Given the description of an element on the screen output the (x, y) to click on. 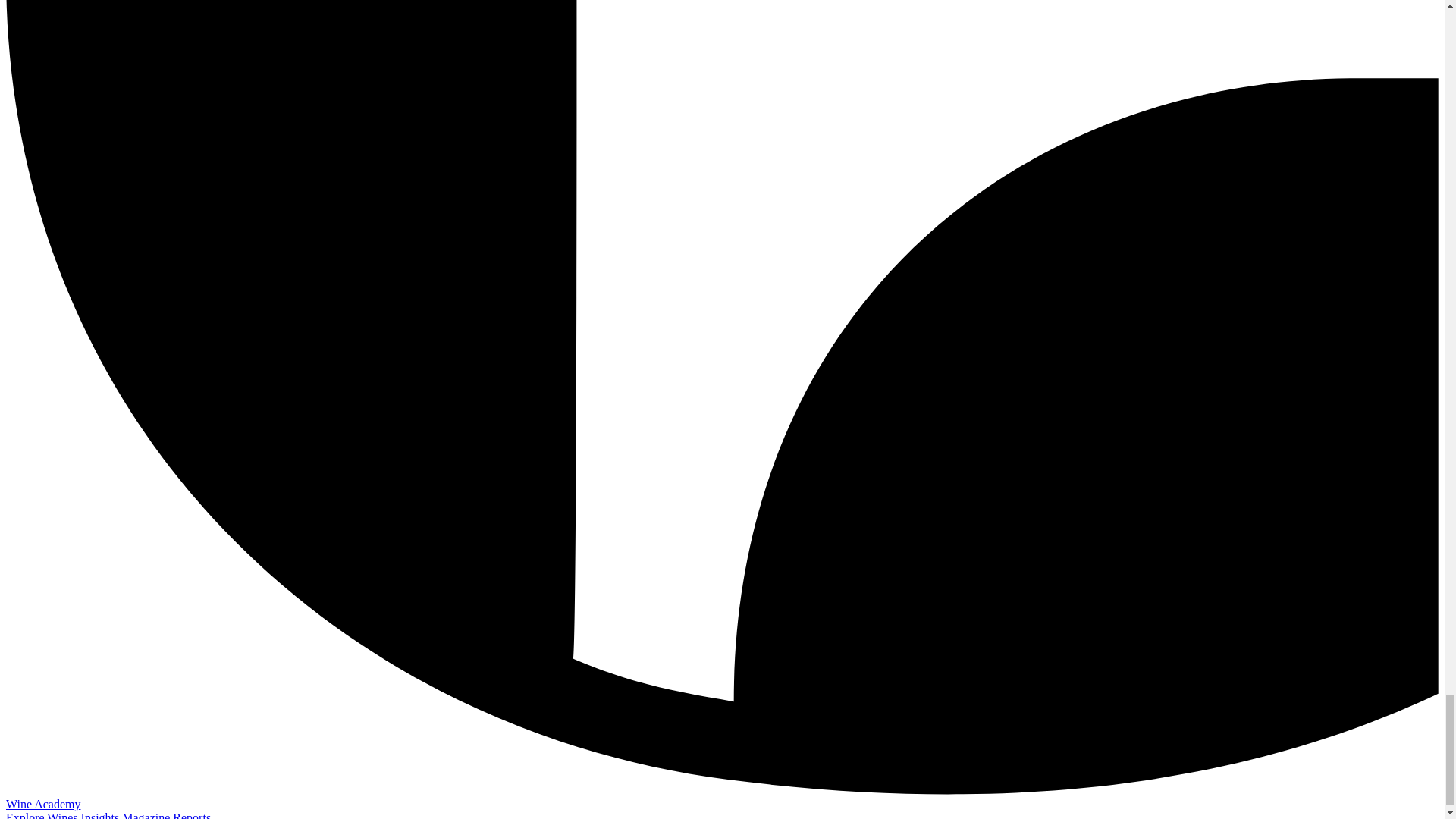
Wine Academy (42, 803)
